Given the description of an element on the screen output the (x, y) to click on. 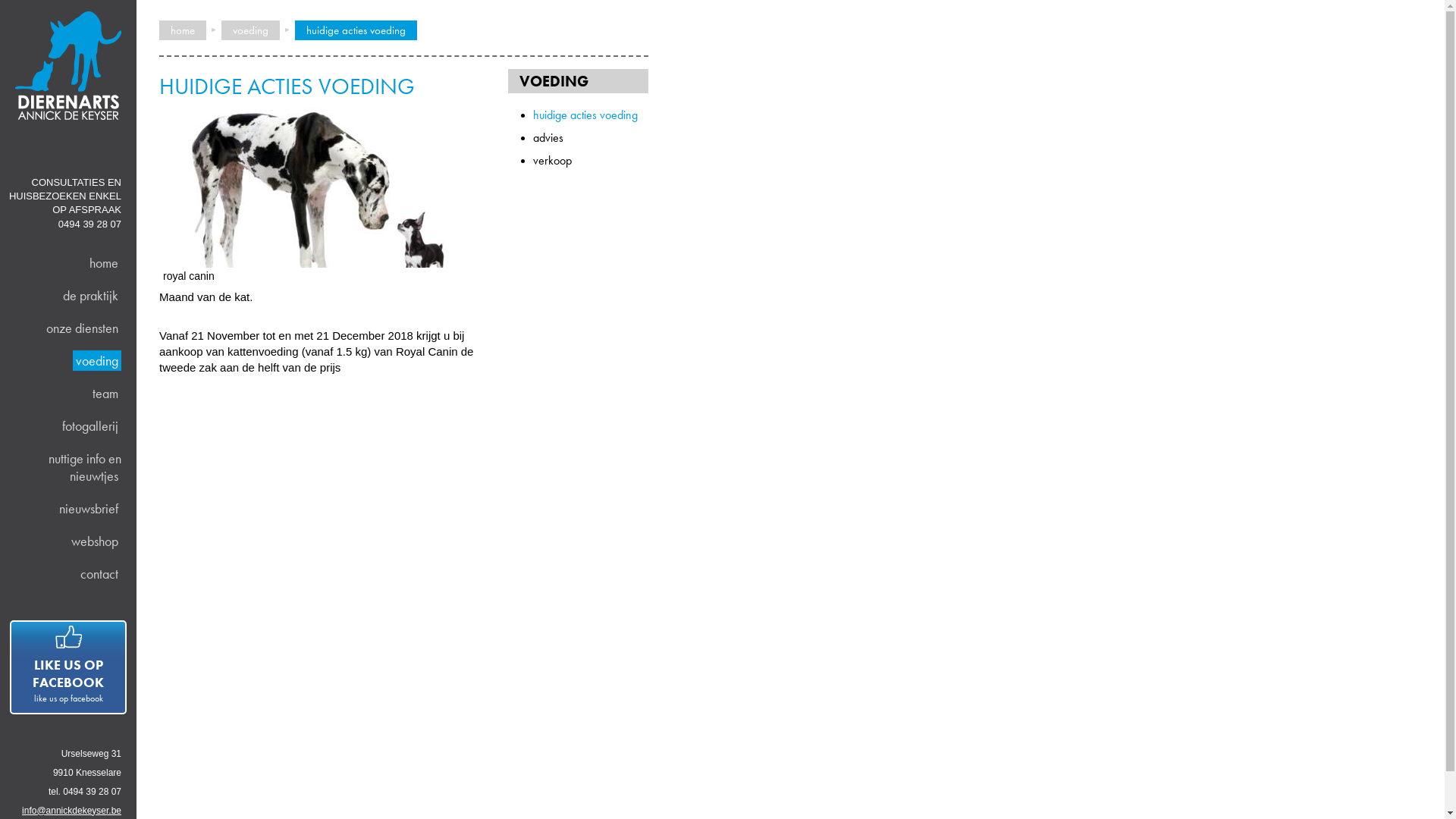
Overslaan en naar de algemene inhoud gaan Element type: text (114, 6)
home Element type: text (103, 262)
advies Element type: text (547, 137)
royal canin Element type: hover (322, 263)
team Element type: text (105, 392)
nuttige info en nieuwtjes Element type: text (83, 467)
voeding Element type: text (96, 360)
fotogallerij Element type: text (90, 425)
contact Element type: text (99, 573)
de praktijk Element type: text (90, 295)
home Element type: text (182, 30)
voeding Element type: text (250, 30)
Home Element type: hover (60, 138)
nieuwsbrief Element type: text (88, 508)
info@annickdekeyser.be Element type: text (71, 810)
huidige acties voeding Element type: text (584, 114)
verkoop Element type: text (551, 160)
webshop Element type: text (94, 540)
onze diensten Element type: text (82, 327)
royal canin Element type: hover (322, 183)
VOEDING Element type: text (553, 81)
LIKE US OP FACEBOOK
like us op facebook Element type: text (67, 667)
